Given the description of an element on the screen output the (x, y) to click on. 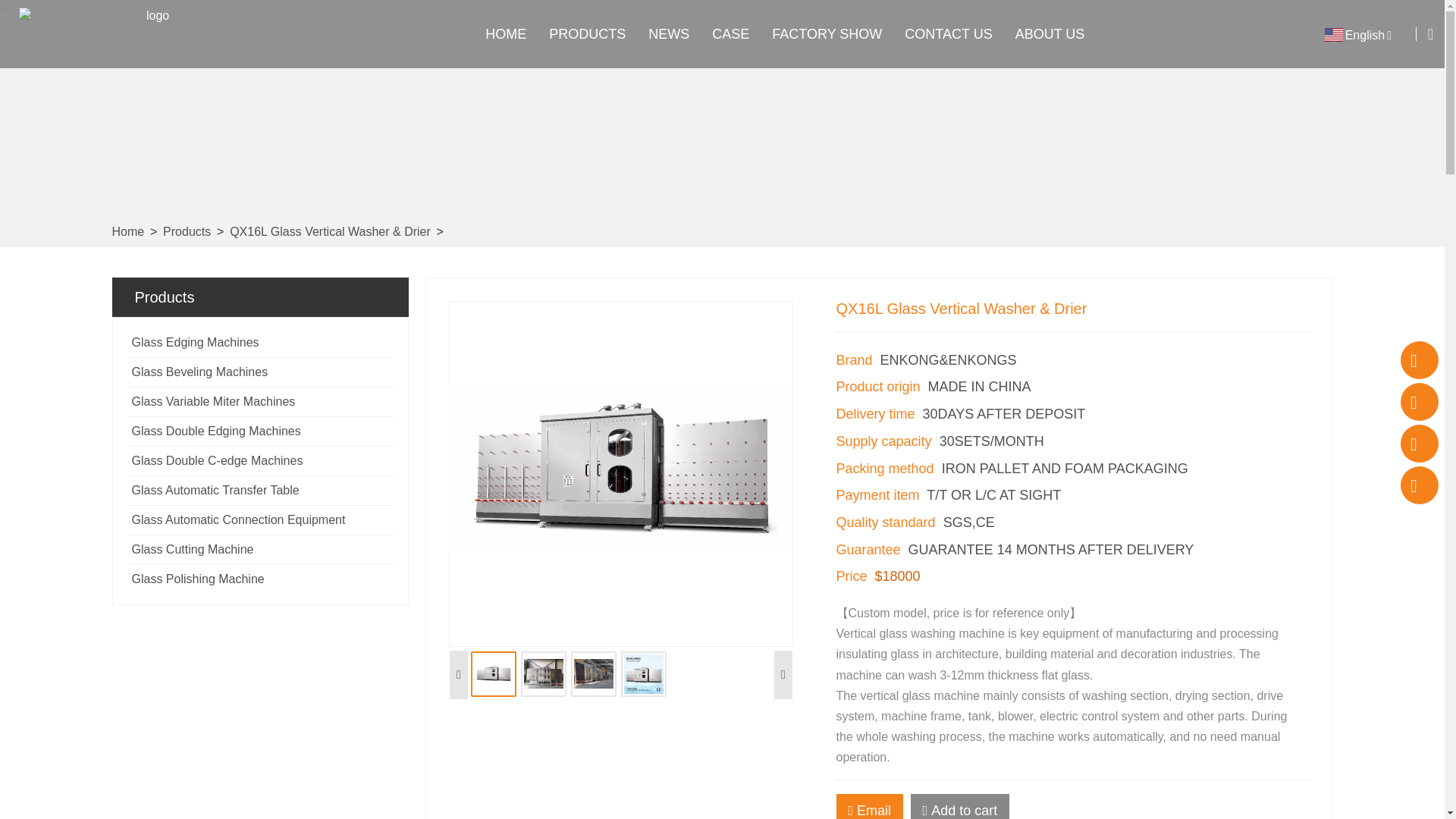
PRODUCTS (594, 33)
CONTACT US (955, 33)
HOME (512, 33)
NEWS (676, 33)
FACTORY SHOW (834, 33)
ABOUT US (1057, 33)
